Given the description of an element on the screen output the (x, y) to click on. 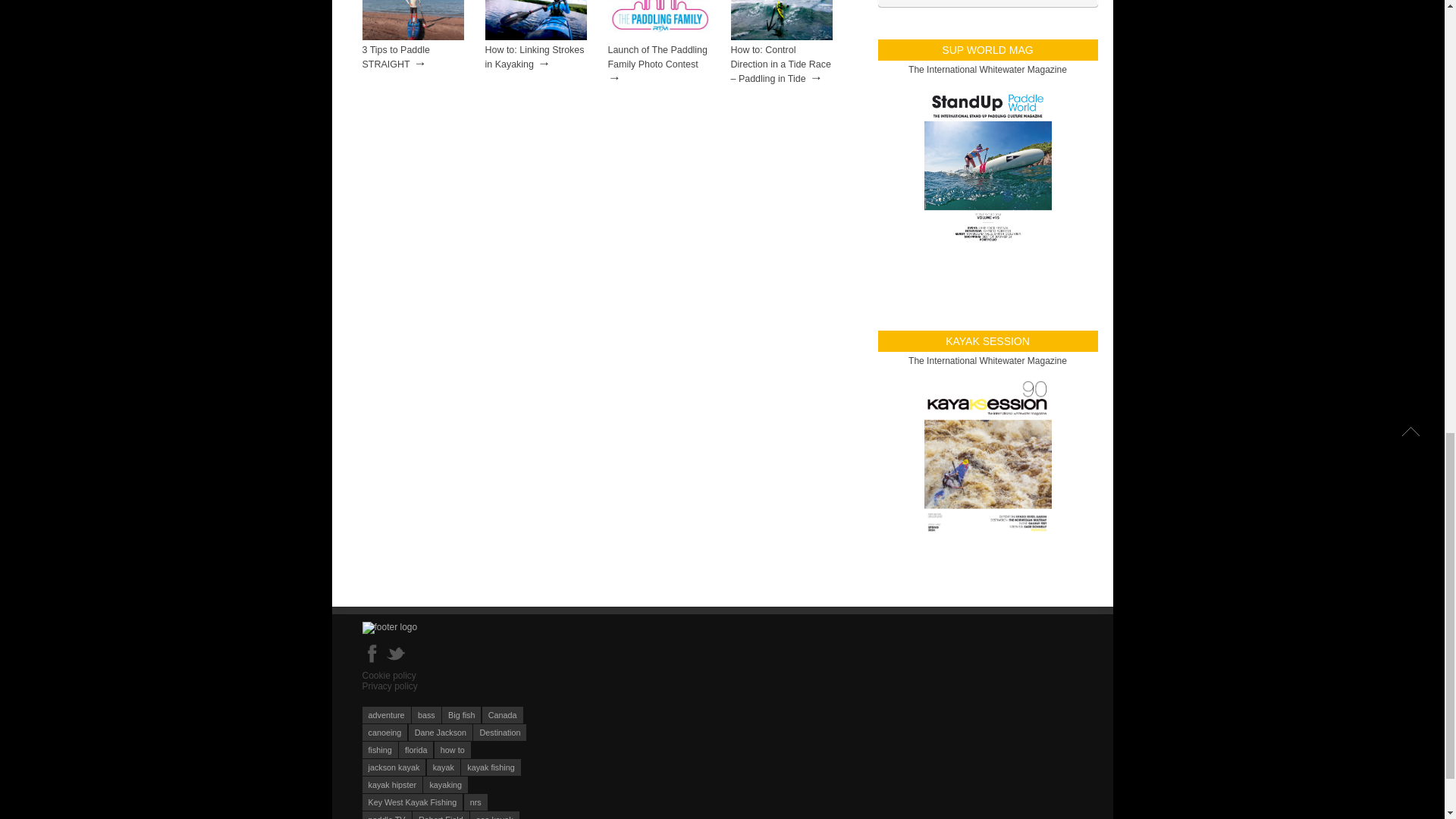
How to: Linking Strokes in Kayaking (534, 57)
How to: Linking Strokes in Kayaking (535, 36)
3 Tips to Paddle STRAIGHT (413, 36)
How to: Linking Strokes in Kayaking (534, 57)
3 Tips to Paddle STRAIGHT (395, 57)
Launch of The Paddling Family Photo Contest (657, 57)
Launch of The Paddling Family Photo Contest (657, 57)
3 Tips to Paddle STRAIGHT (395, 57)
Launch of The Paddling Family Photo Contest (659, 36)
